Given the description of an element on the screen output the (x, y) to click on. 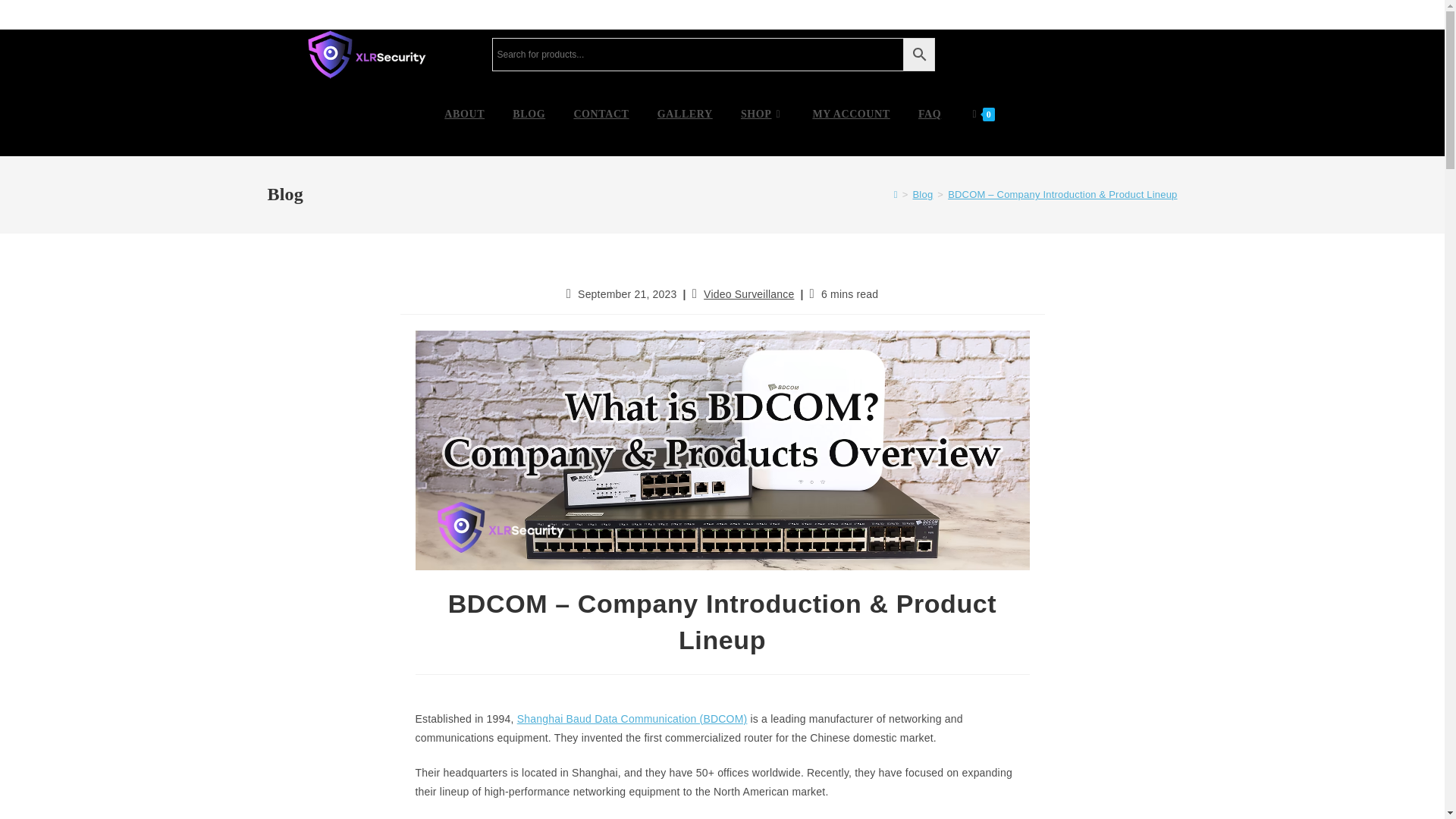
Become a Dealer (1141, 13)
CONTACT (600, 114)
GALLERY (685, 114)
MY ACCOUNT (850, 114)
Login (1076, 13)
